Given the description of an element on the screen output the (x, y) to click on. 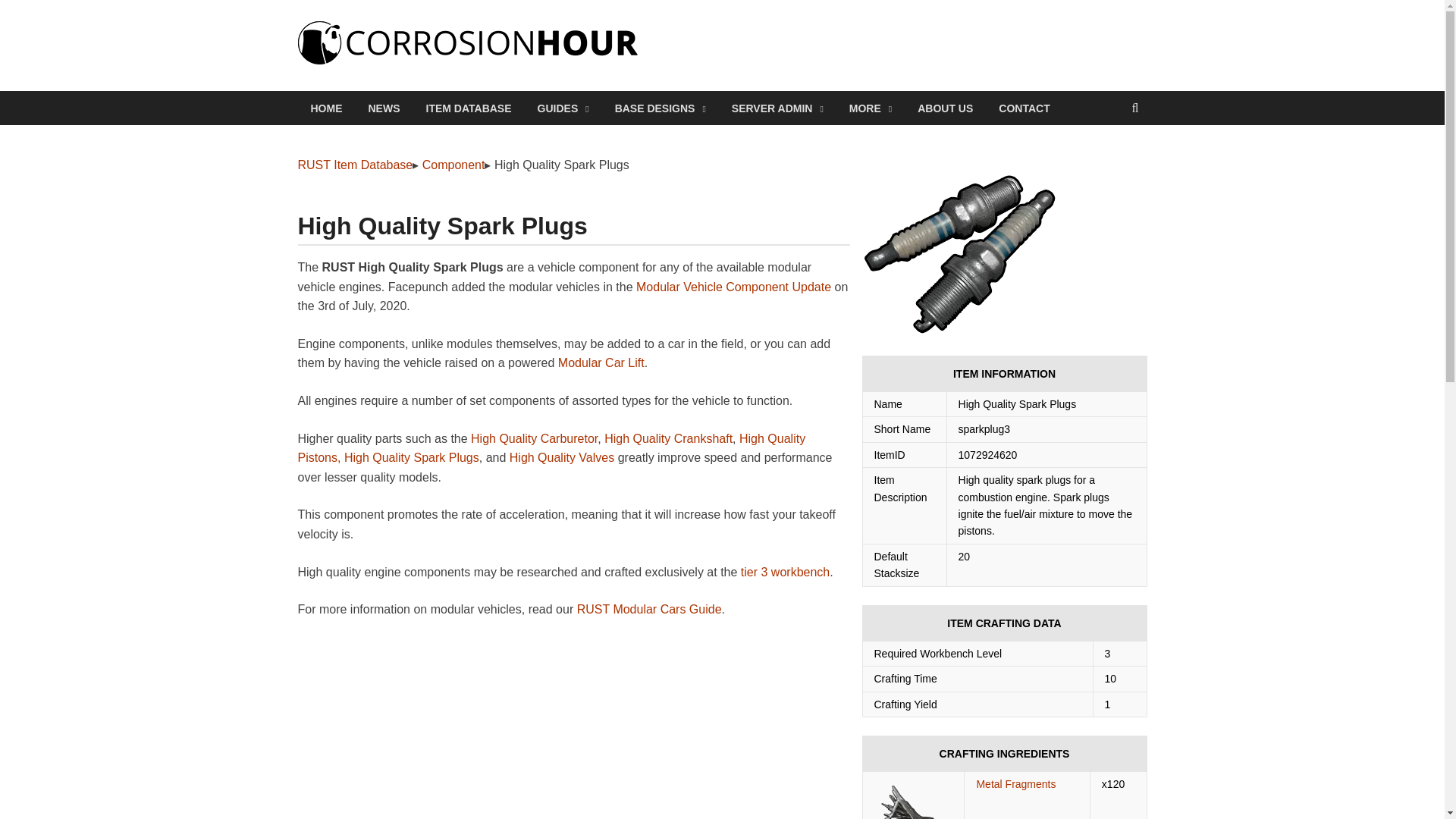
MORE (869, 107)
NEWS (383, 107)
Corrosion Hour (749, 51)
SERVER ADMIN (777, 107)
ITEM DATABASE (468, 107)
GUIDES (563, 107)
BASE DESIGNS (660, 107)
HOME (326, 107)
